Given the description of an element on the screen output the (x, y) to click on. 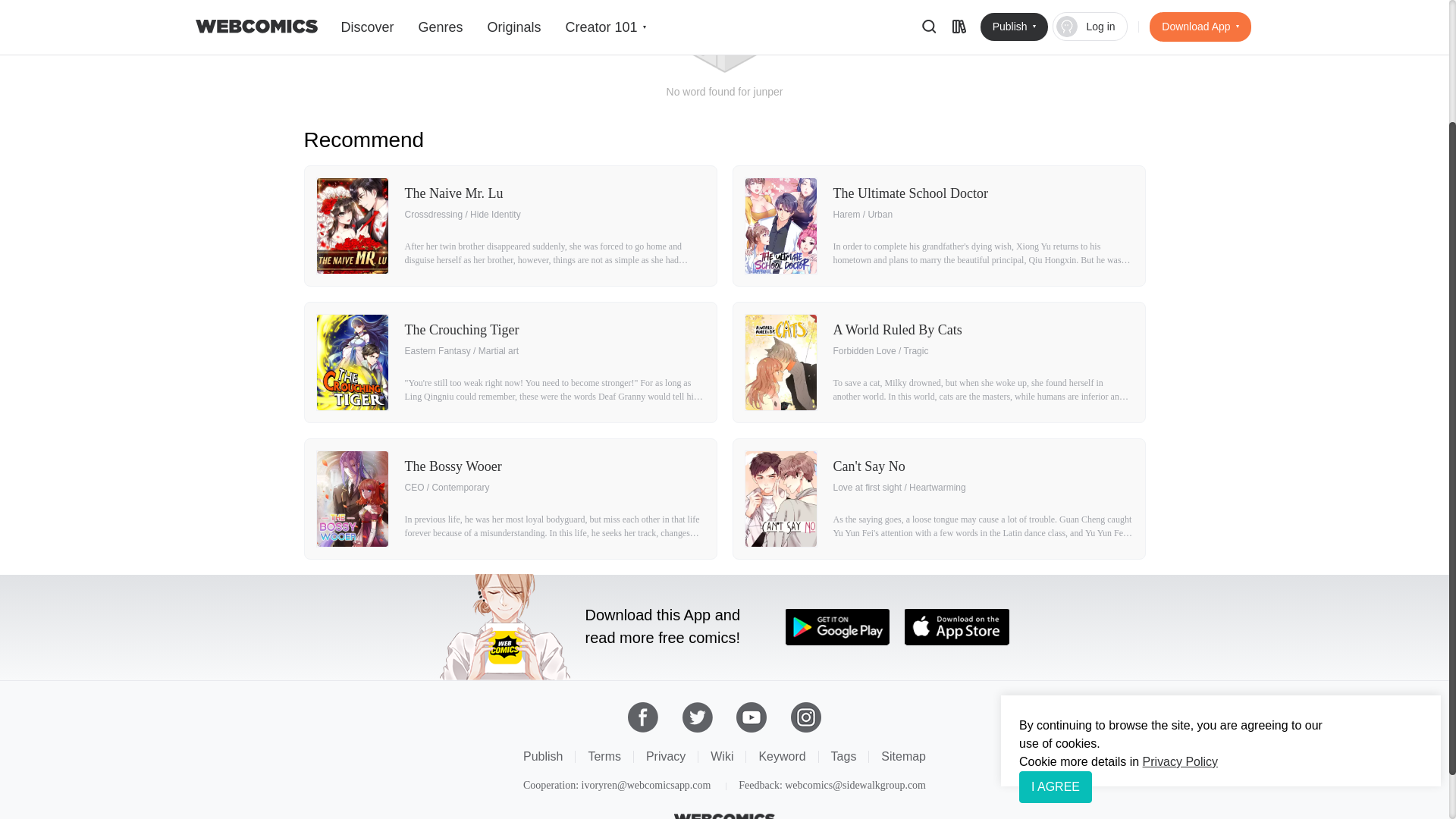
Keyword (781, 756)
Privacy (665, 756)
Tags (844, 756)
Sitemap (903, 756)
Privacy Policy (1179, 607)
Terms (604, 756)
Wiki (721, 756)
